Given the description of an element on the screen output the (x, y) to click on. 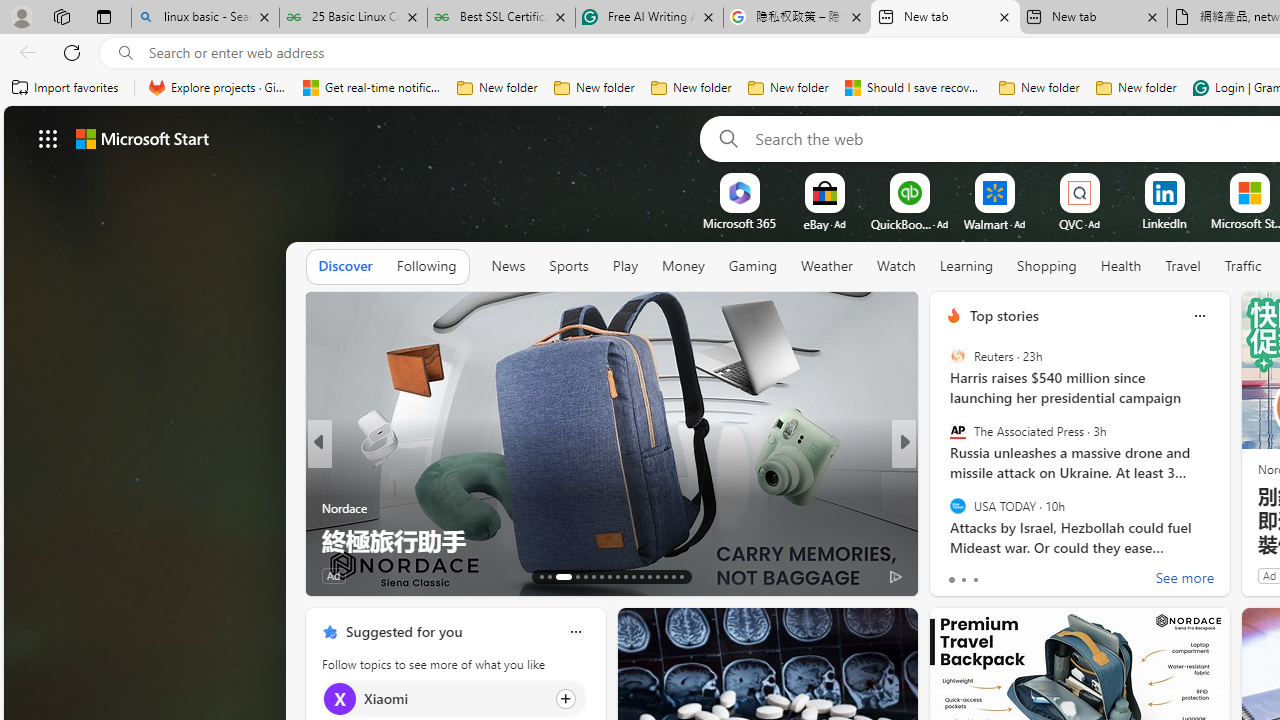
ScienceAlert (944, 475)
48 Like (956, 574)
3 Like (952, 574)
